Given the description of an element on the screen output the (x, y) to click on. 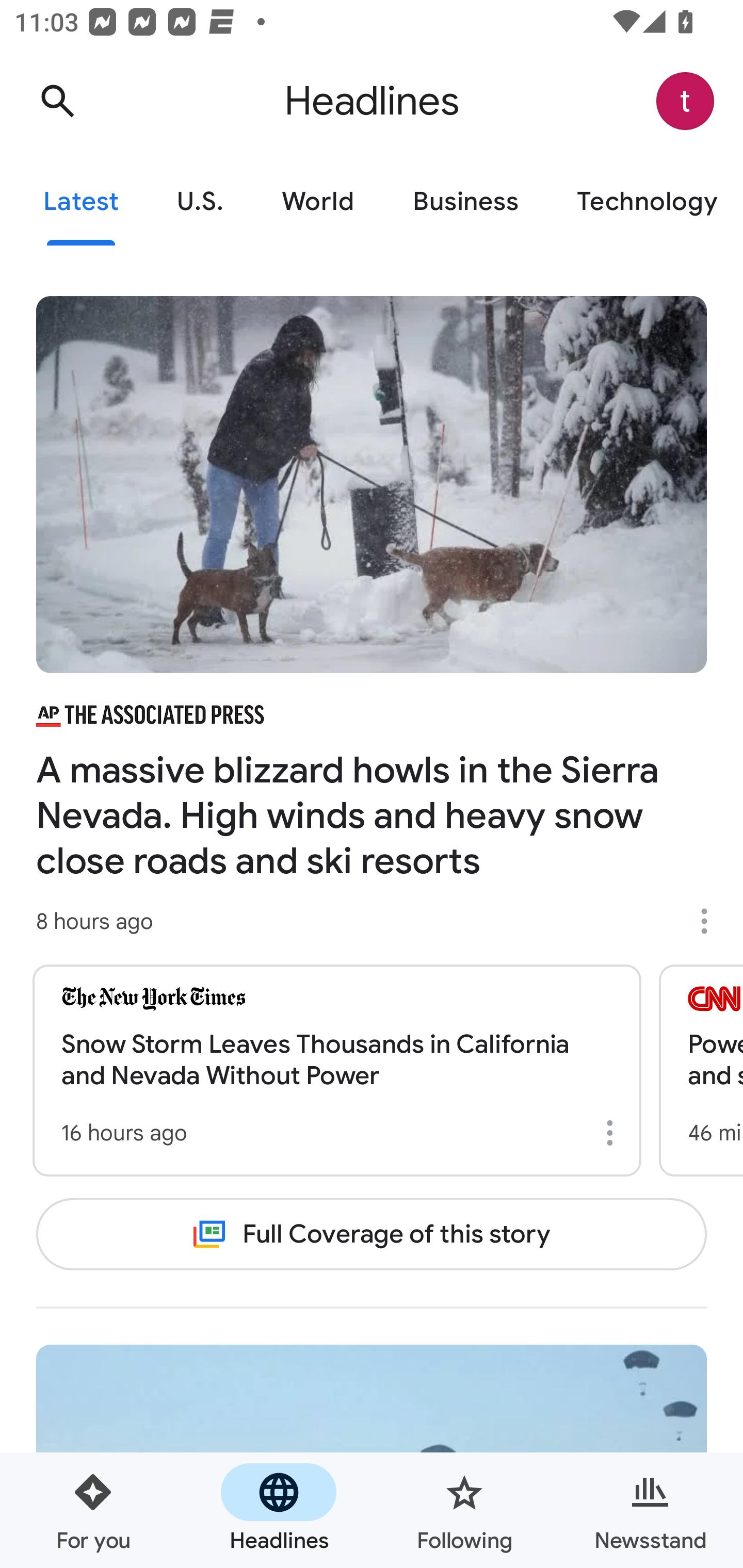
Search (57, 100)
U.S. (199, 202)
World (317, 202)
Business (465, 202)
Technology (645, 202)
More options (711, 921)
More options (613, 1132)
Full Coverage of this story (371, 1233)
For you (92, 1509)
Headlines (278, 1509)
Following (464, 1509)
Newsstand (650, 1509)
